Given the description of an element on the screen output the (x, y) to click on. 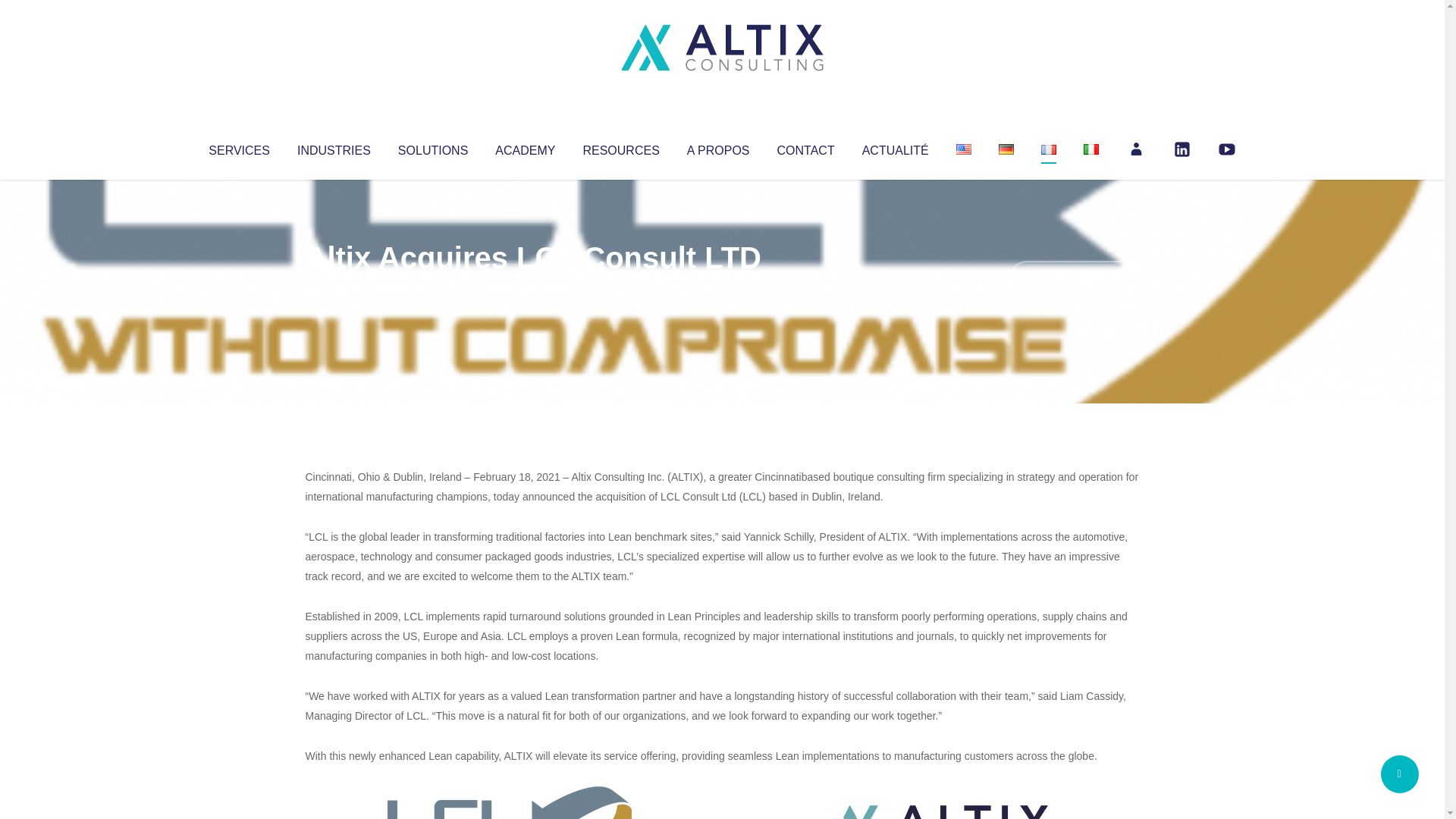
No Comments (1073, 278)
SERVICES (238, 146)
A PROPOS (718, 146)
Uncategorized (530, 287)
ACADEMY (524, 146)
INDUSTRIES (334, 146)
Articles par Altix (333, 287)
Altix (333, 287)
SOLUTIONS (432, 146)
RESOURCES (620, 146)
